Given the description of an element on the screen output the (x, y) to click on. 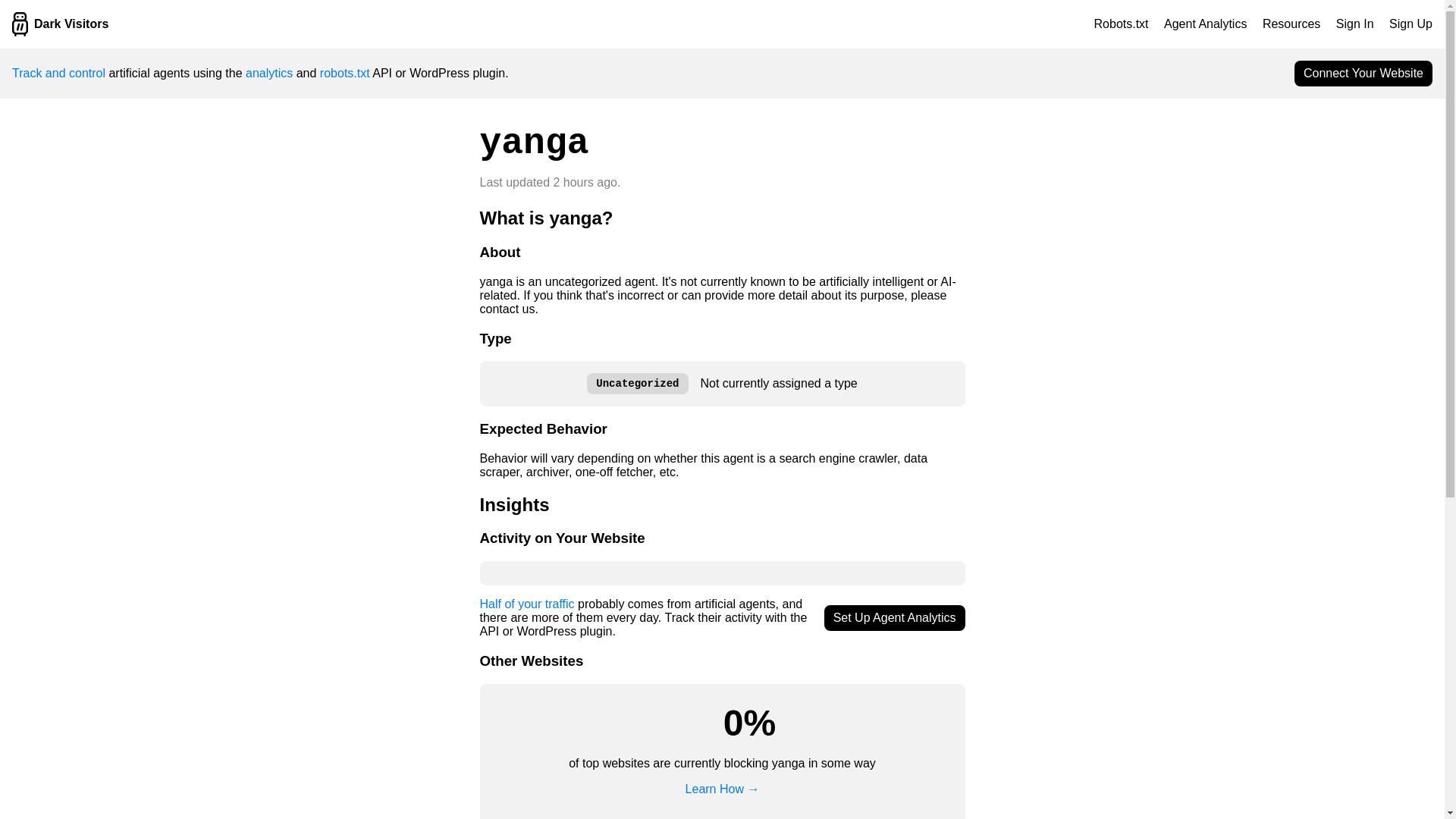
Half of your traffic (526, 603)
Sign In (1355, 23)
Robots.txt (1121, 23)
Agent Analytics (1204, 23)
Connect Your Website (1363, 73)
Track and control (57, 72)
Sign Up (1410, 23)
robots.txt (344, 72)
Dark Visitors (59, 24)
analytics (269, 72)
Set Up Agent Analytics (894, 617)
